Given the description of an element on the screen output the (x, y) to click on. 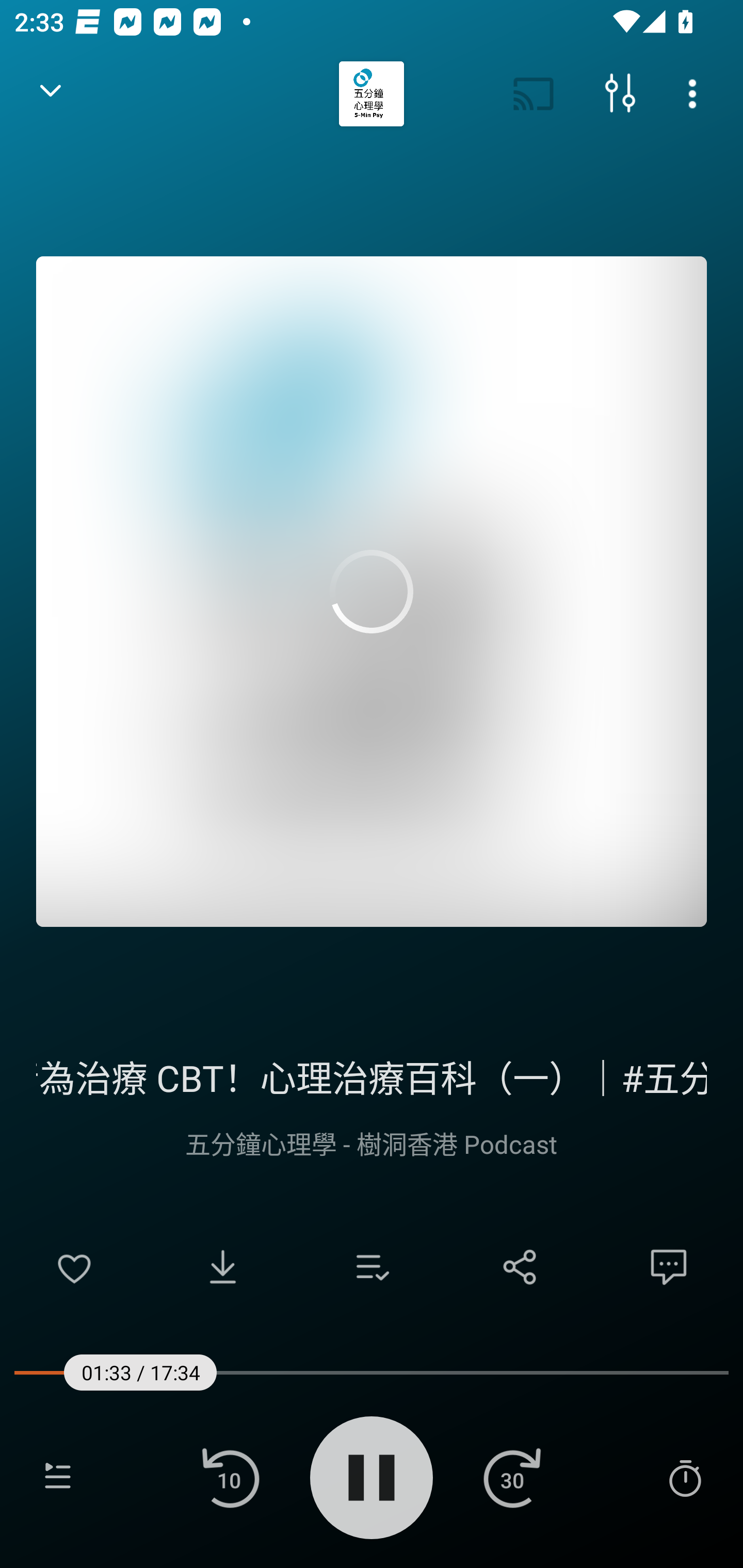
Cast. Disconnected (533, 93)
 Back (50, 94)
#PSY｜困擾源於盲點？認知行為治療 CBT！心理治療百科（一）｜#五分鐘心理學 (371, 1075)
五分鐘心理學 - 樹洞香港 Podcast (371, 1142)
Comments (668, 1266)
Add to Favorites (73, 1266)
Add to playlist (371, 1266)
Share (519, 1266)
 Playlist (57, 1477)
Sleep Timer  (684, 1477)
